Given the description of an element on the screen output the (x, y) to click on. 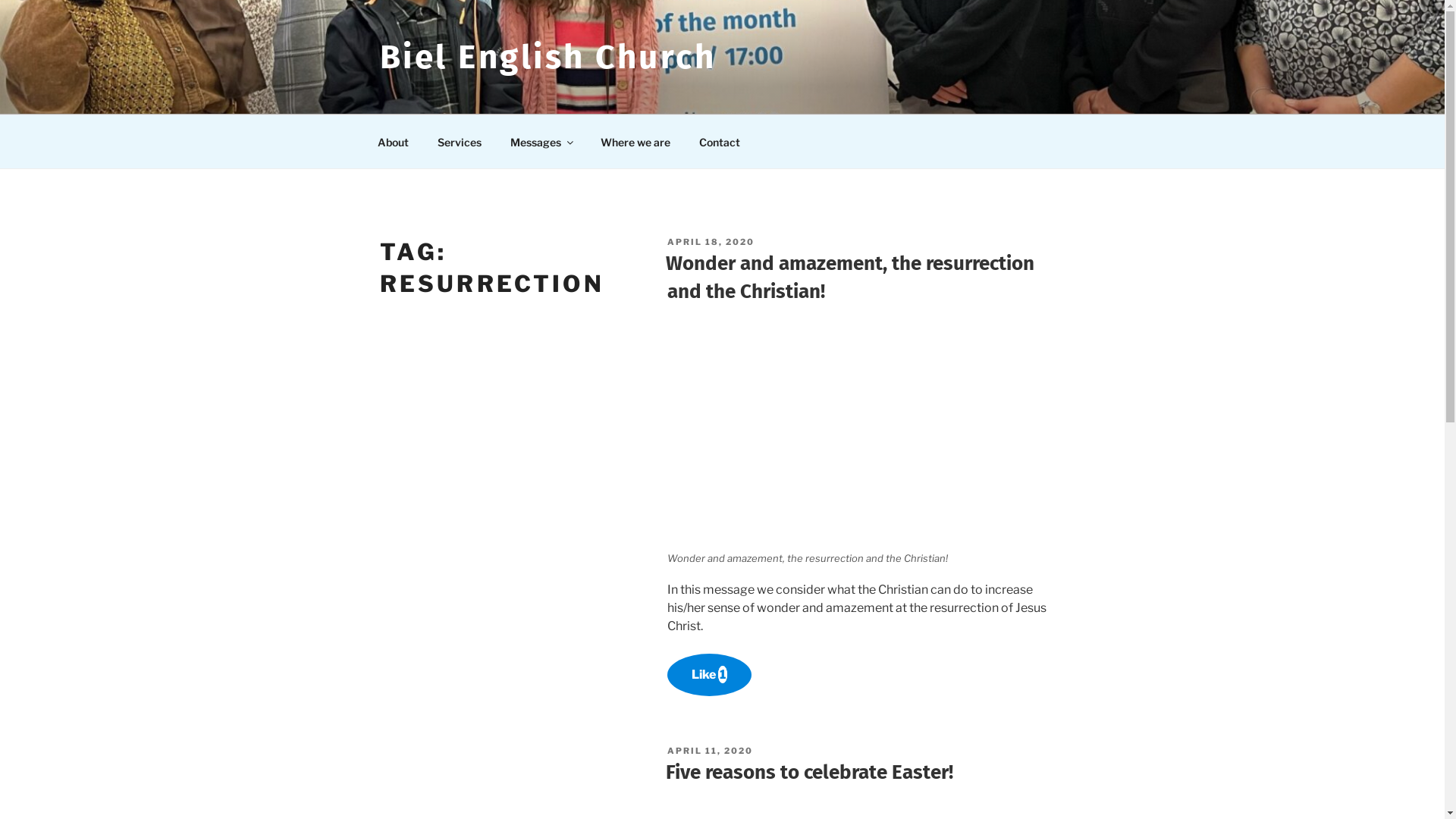
Where we are Element type: text (634, 141)
Like 1 Element type: text (709, 674)
APRIL 11, 2020 Element type: text (710, 750)
APRIL 18, 2020 Element type: text (710, 241)
Five reasons to celebrate Easter! Element type: text (809, 772)
Contact Element type: text (719, 141)
Messages Element type: text (541, 141)
About Element type: text (392, 141)
Wonder and amazement! A message from Biel English Church Element type: hover (865, 434)
Wonder and amazement, the resurrection and the Christian! Element type: text (849, 276)
Biel English Church Element type: text (547, 57)
Services Element type: text (459, 141)
